Given the description of an element on the screen output the (x, y) to click on. 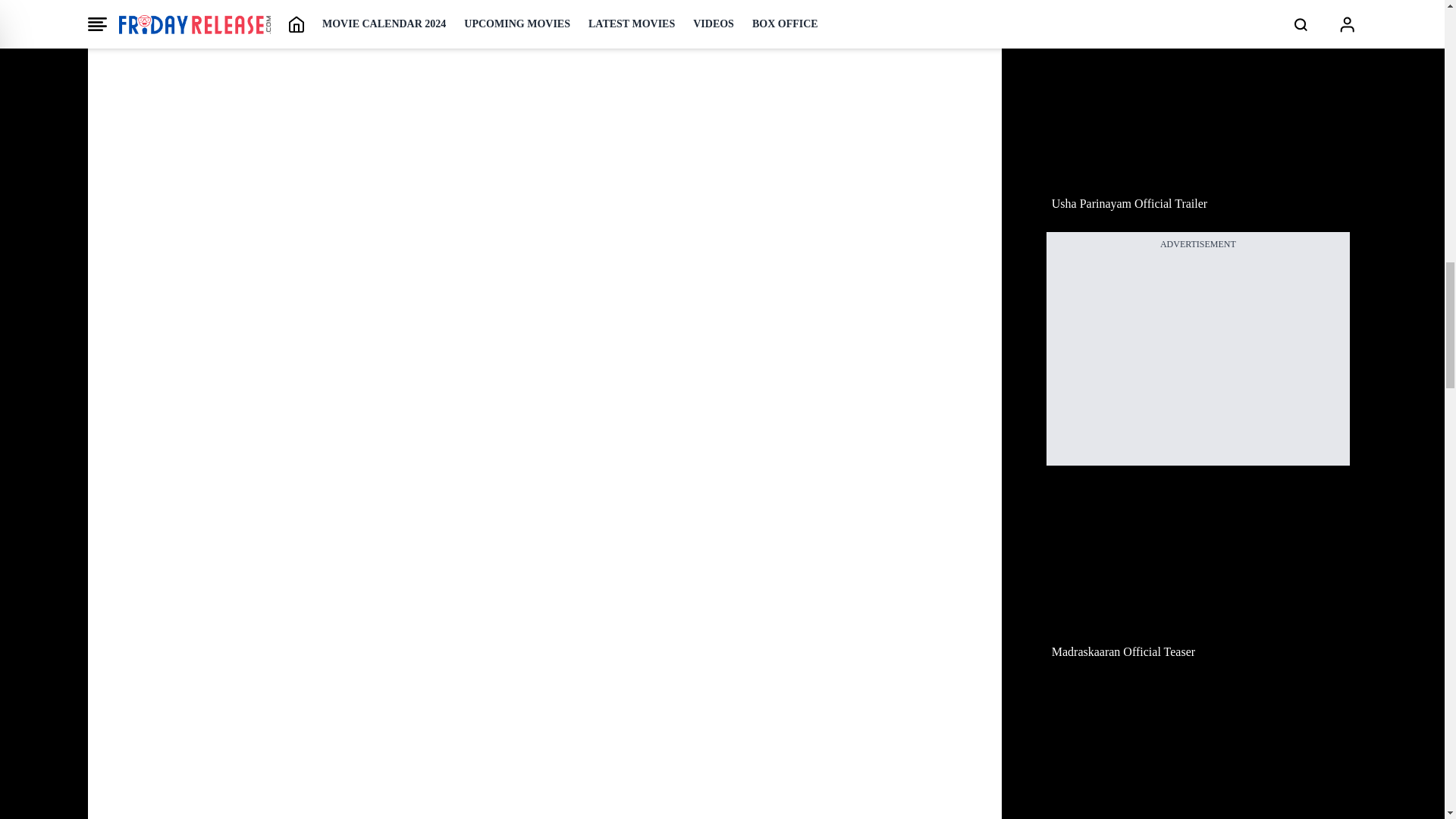
Twitter Page (340, 6)
Facebook Page (389, 6)
Instagram Page (450, 6)
